Given the description of an element on the screen output the (x, y) to click on. 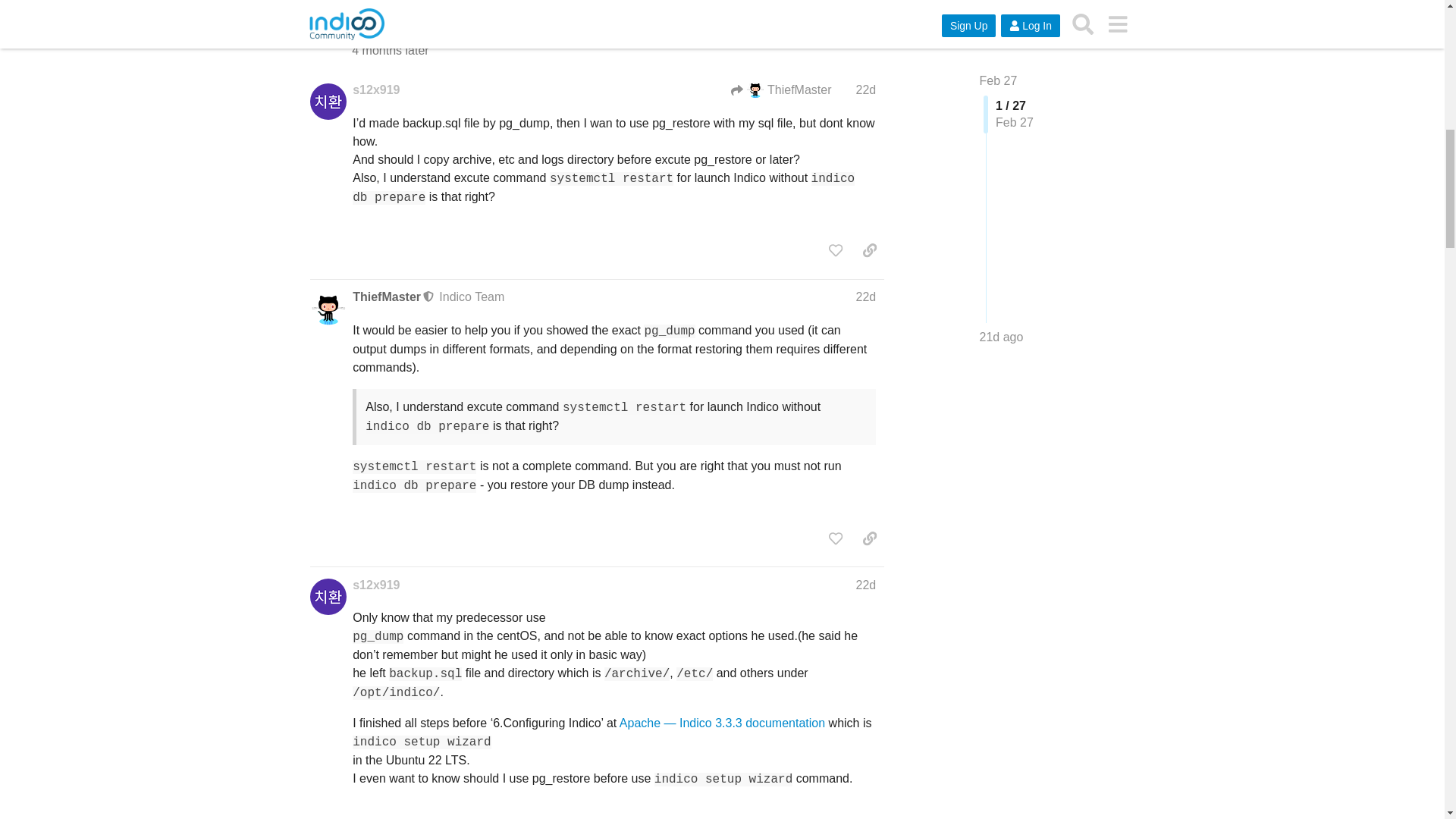
s12x919 (375, 89)
